Given the description of an element on the screen output the (x, y) to click on. 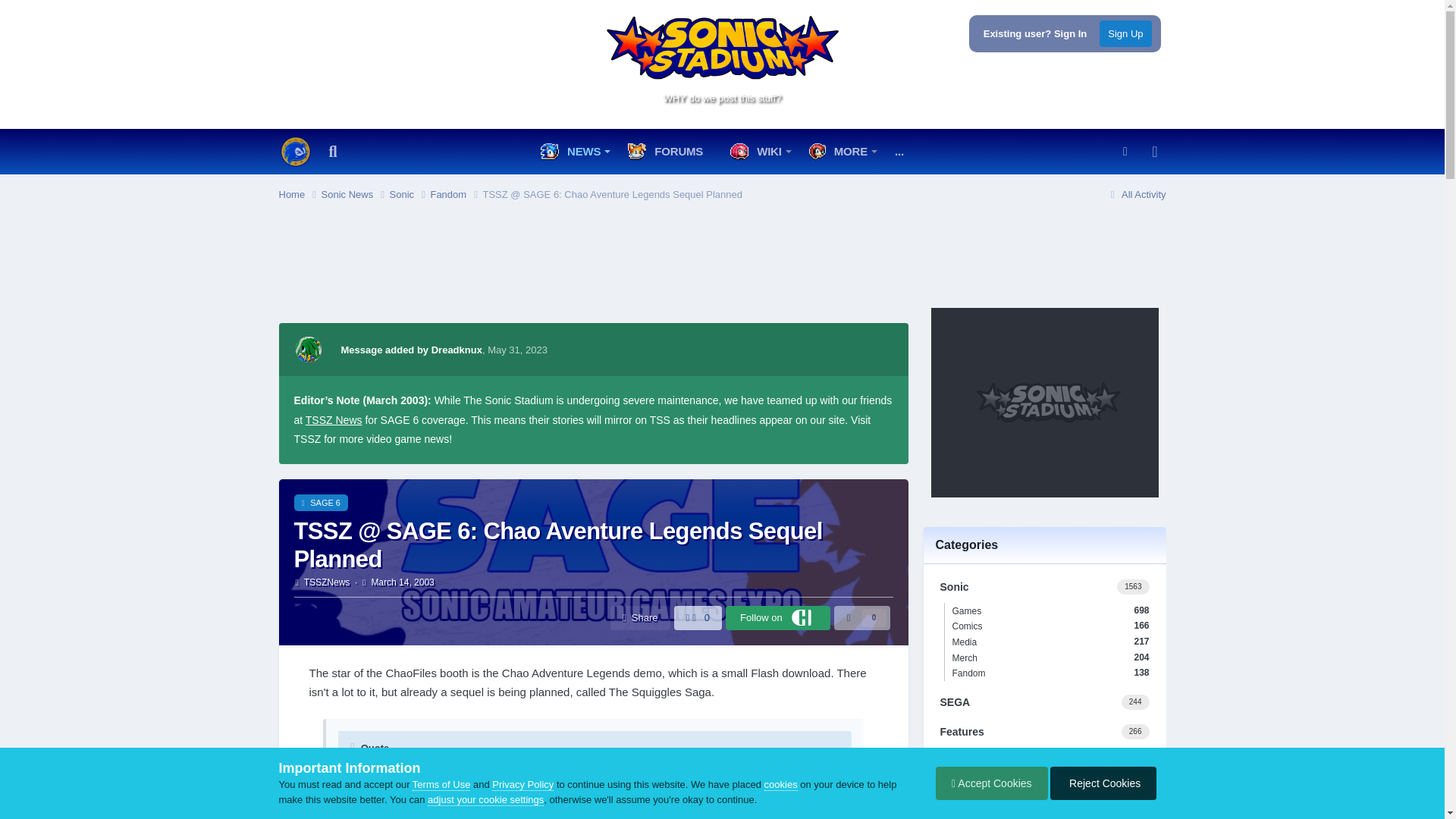
Sign Up (1125, 33)
NEWS (573, 151)
Existing user? Sign In (1035, 33)
68 (1103, 189)
Try Our New Homepage... (295, 151)
